Given the description of an element on the screen output the (x, y) to click on. 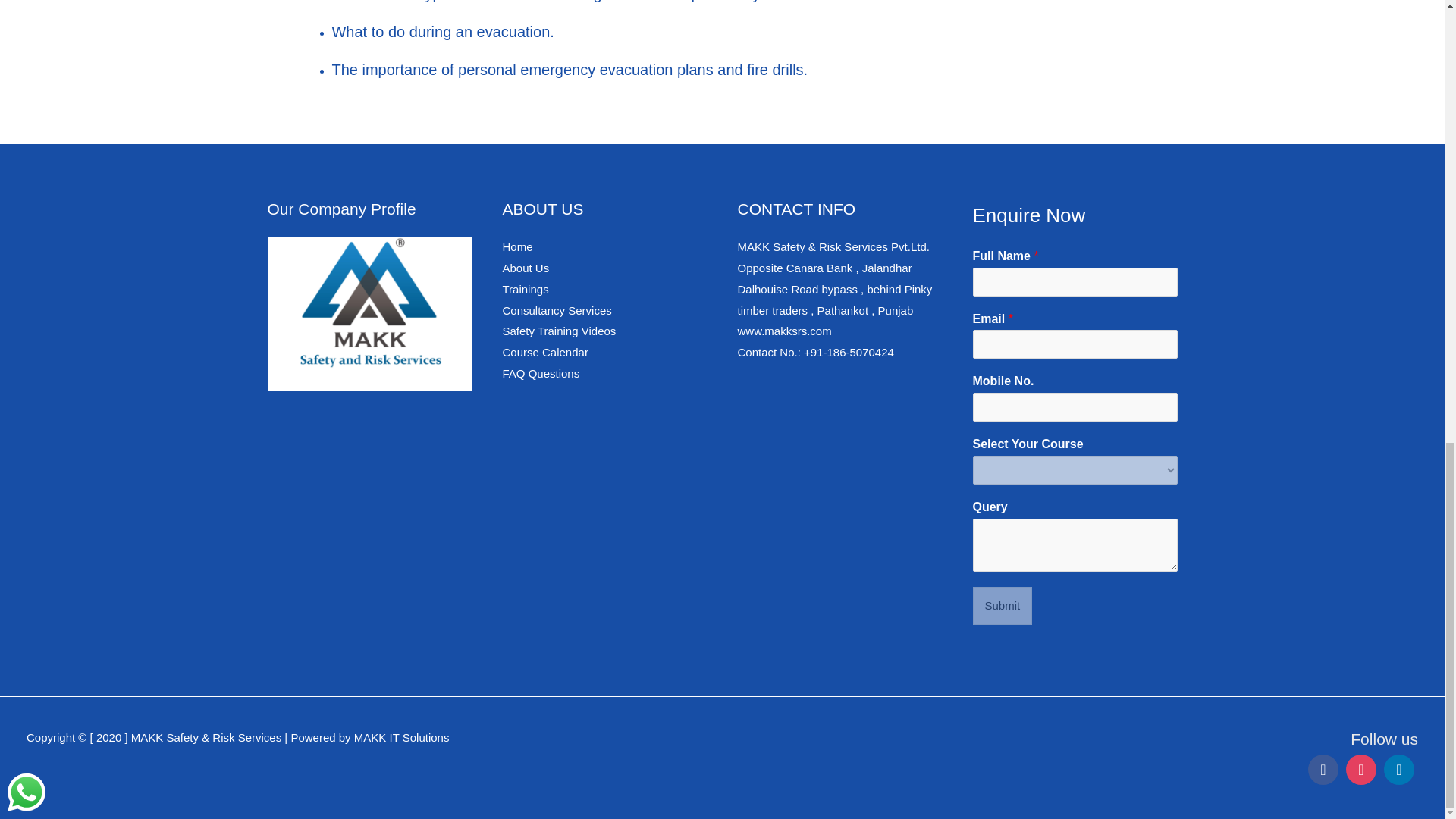
Facebook (1323, 769)
Instagram (1361, 769)
Default Label (1399, 769)
